Given the description of an element on the screen output the (x, y) to click on. 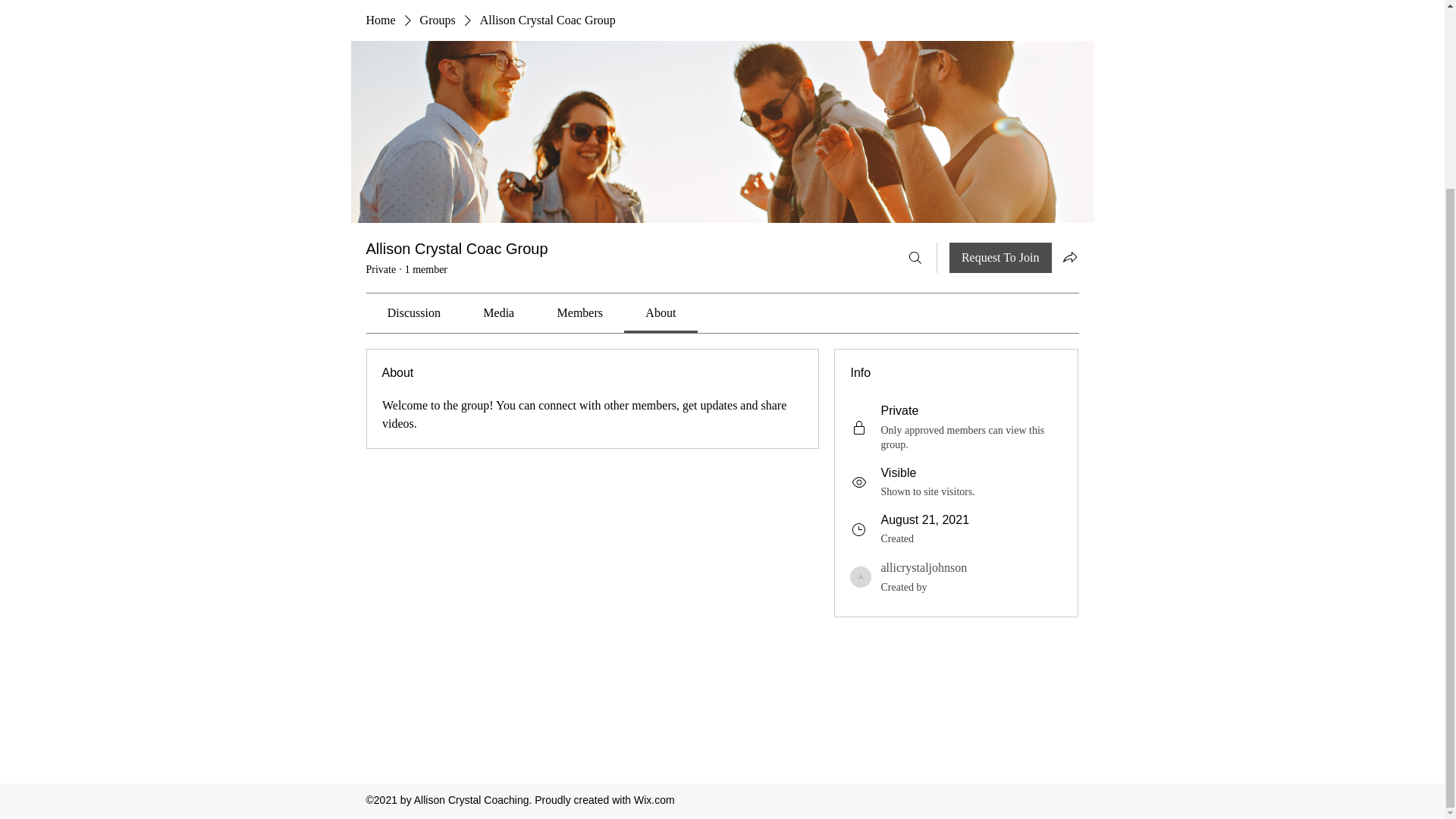
Groups (437, 20)
allicrystaljohnson (860, 577)
Home (379, 20)
allicrystaljohnson (923, 567)
Request To Join (1000, 257)
allicrystaljohnson (923, 567)
